Given the description of an element on the screen output the (x, y) to click on. 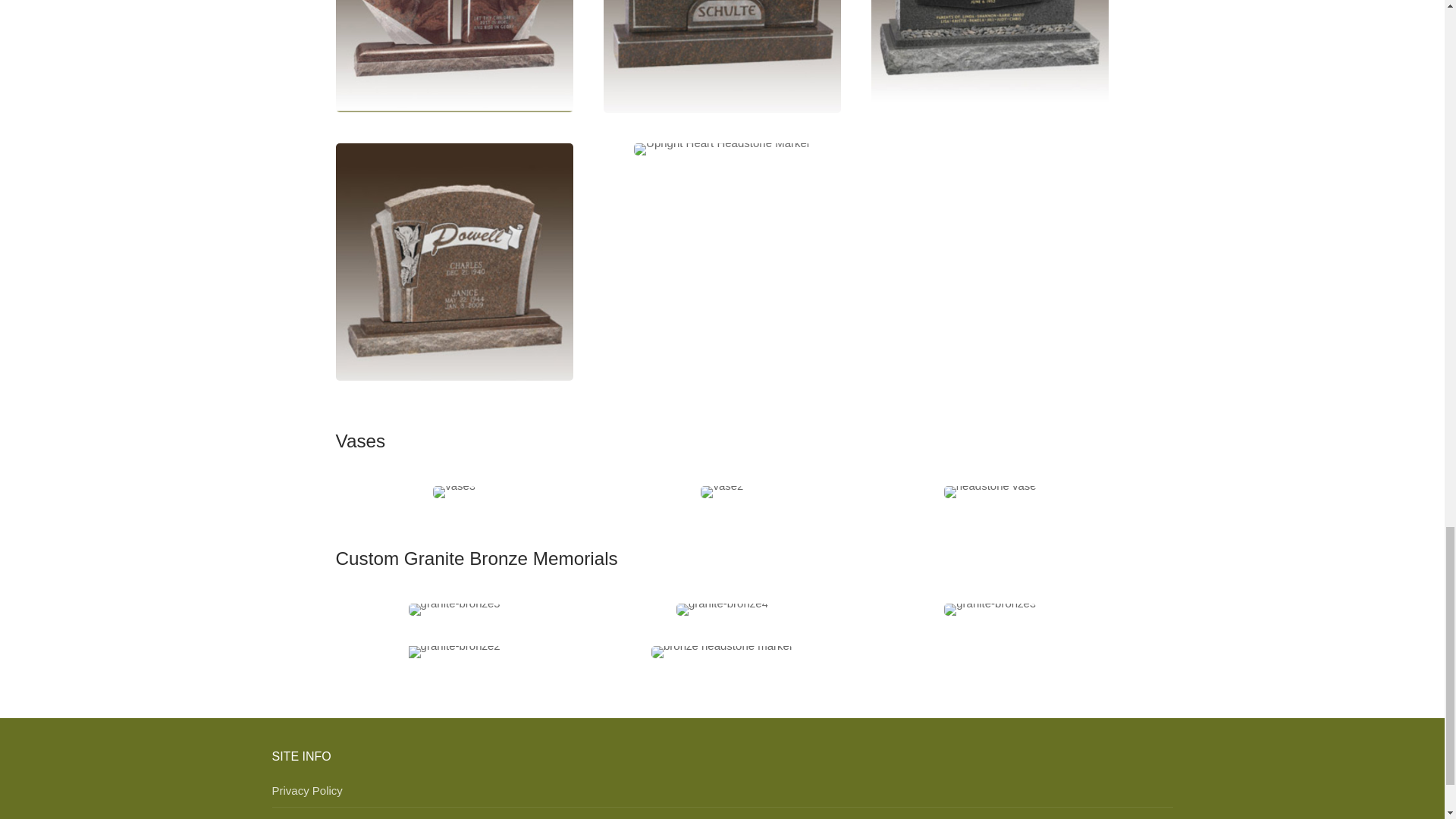
headstone vase (989, 491)
Privacy Policy (721, 794)
granite-bronze5 (454, 609)
Upright Headstone Marker (453, 261)
Upright Headstone Marker (453, 56)
Upright Headstone Marker (722, 56)
granite-bronze4 (722, 609)
Upright Heart Headstone Marker (721, 149)
vase2 (721, 491)
vase3 (454, 491)
